Given the description of an element on the screen output the (x, y) to click on. 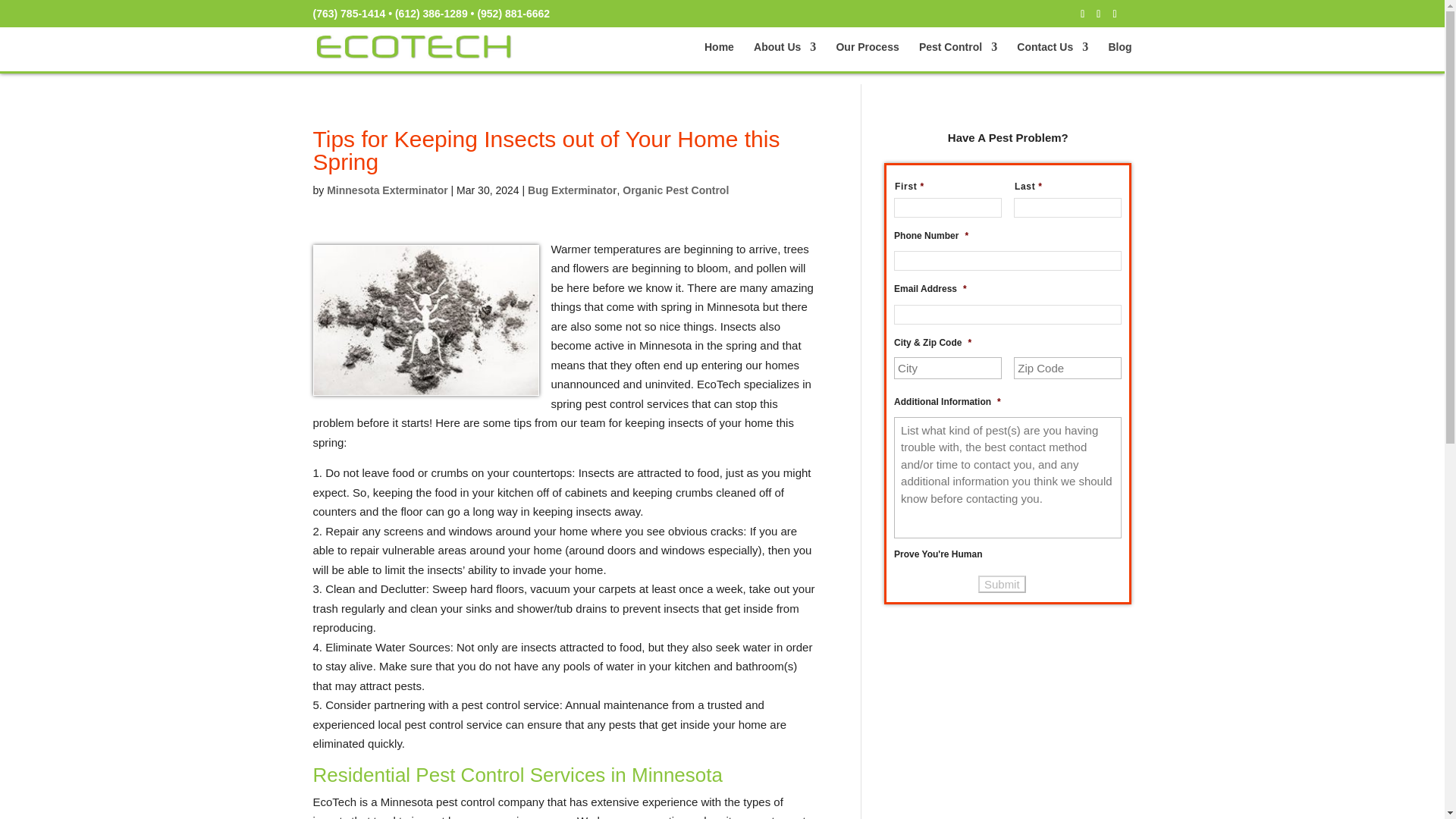
Bug Exterminator (571, 190)
Our Process (866, 56)
Posts by Minnesota Exterminator (386, 190)
Minnesota Exterminator (386, 190)
Submit (1002, 583)
Submit (1002, 583)
Tips for Keeping Insects out of Your Home this Spring (425, 319)
About Us (784, 56)
Pest Control (957, 56)
Organic Pest Control (676, 190)
